Given the description of an element on the screen output the (x, y) to click on. 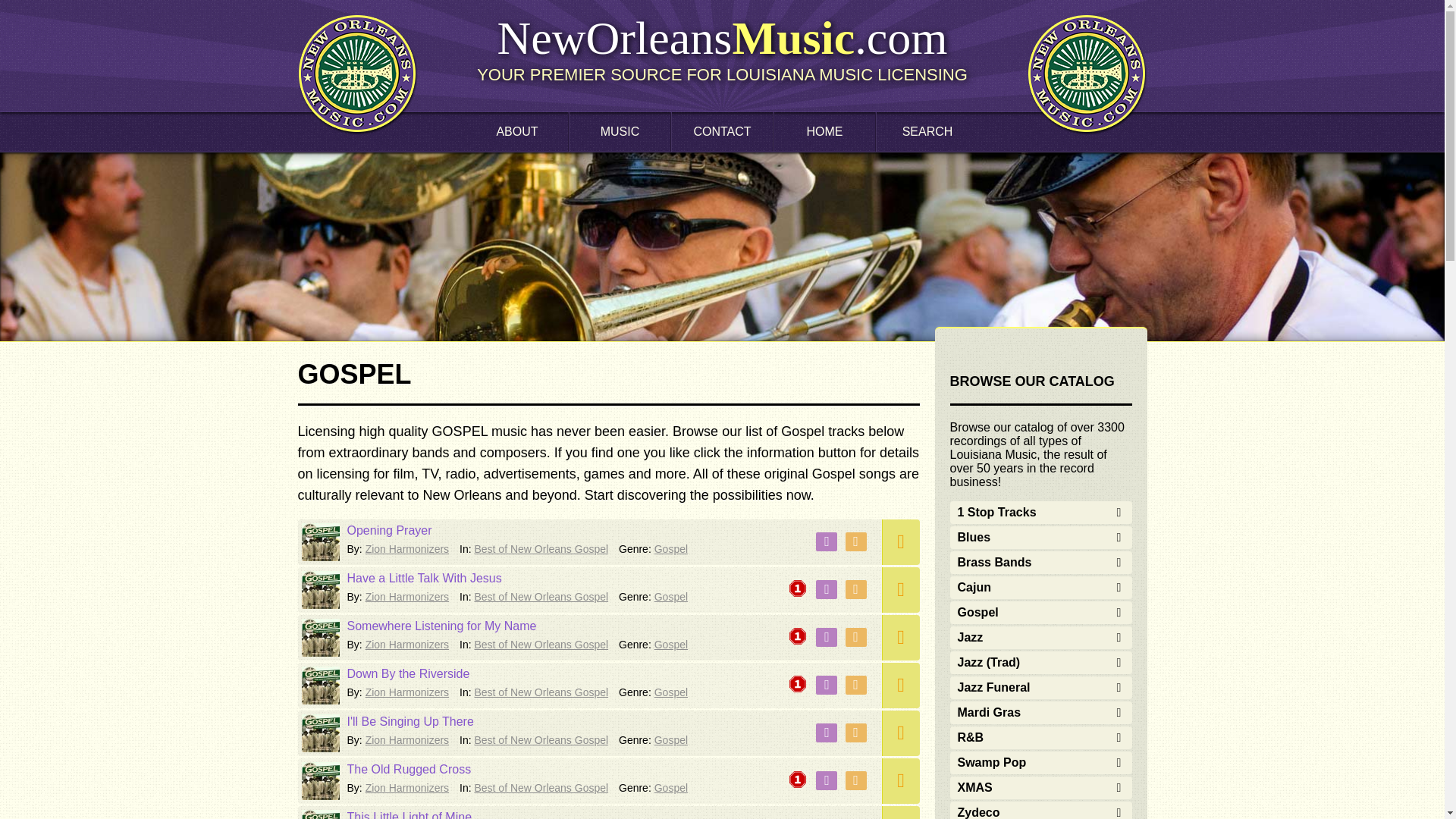
Best of New Orleans Gospel (541, 596)
Best of New Orleans Gospel (541, 644)
Best of New Orleans Gospel (541, 548)
SEARCH (927, 131)
Favorite (826, 637)
Favorite (826, 732)
HOME (824, 131)
Information (855, 780)
1 Stop (797, 782)
